Given the description of an element on the screen output the (x, y) to click on. 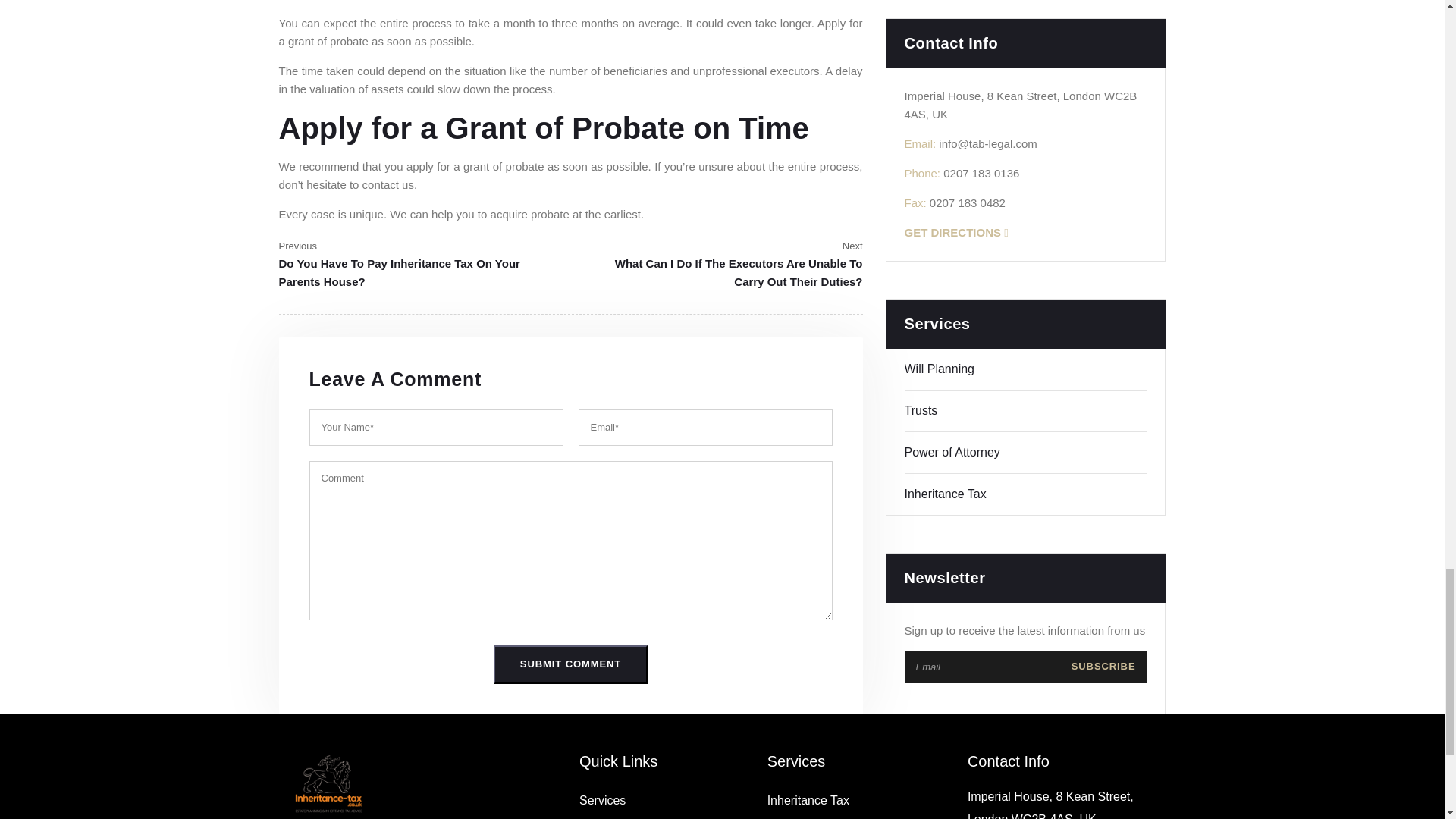
Submit Comment (570, 664)
